Given the description of an element on the screen output the (x, y) to click on. 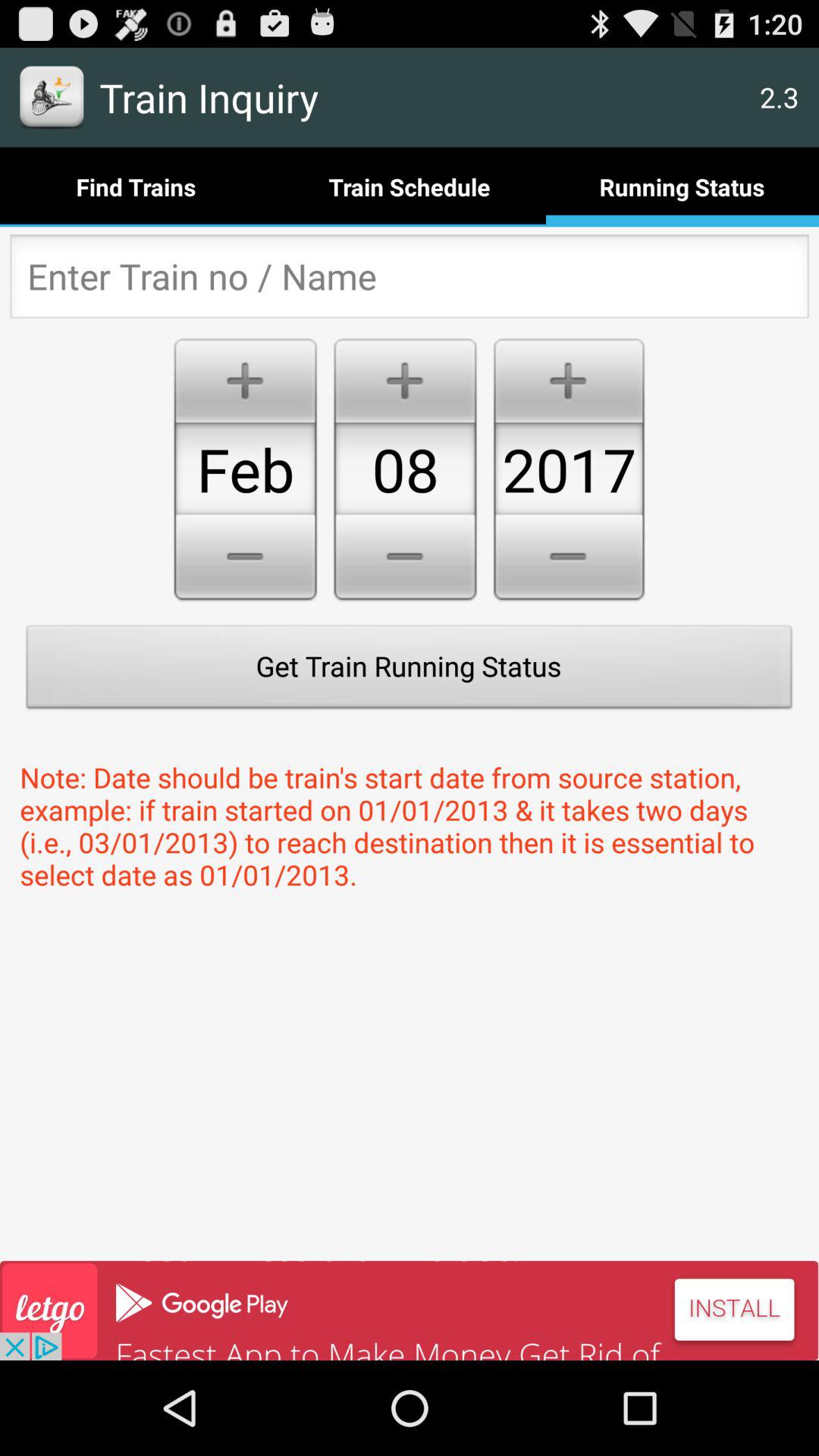
advertisement to install letgo app (409, 1310)
